Given the description of an element on the screen output the (x, y) to click on. 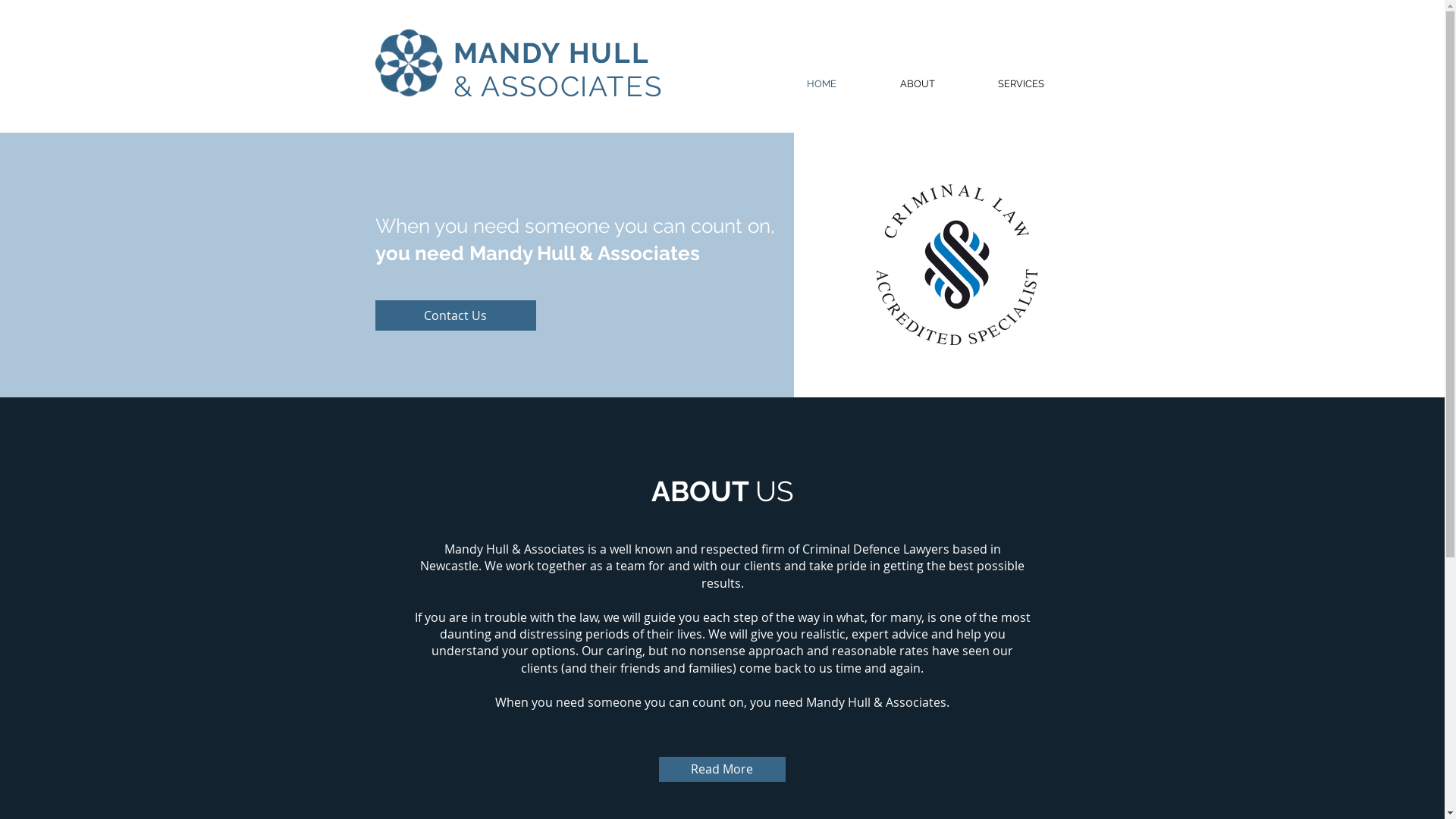
Read More Element type: text (721, 768)
SERVICES Element type: text (1020, 84)
Criminal Law Accredited Specialist Element type: hover (956, 264)
MANDY HULL
& ASSOCIATES Element type: text (557, 69)
HOME Element type: text (821, 84)
ABOUT Element type: text (916, 84)
Contact Us Element type: text (454, 315)
